Given the description of an element on the screen output the (x, y) to click on. 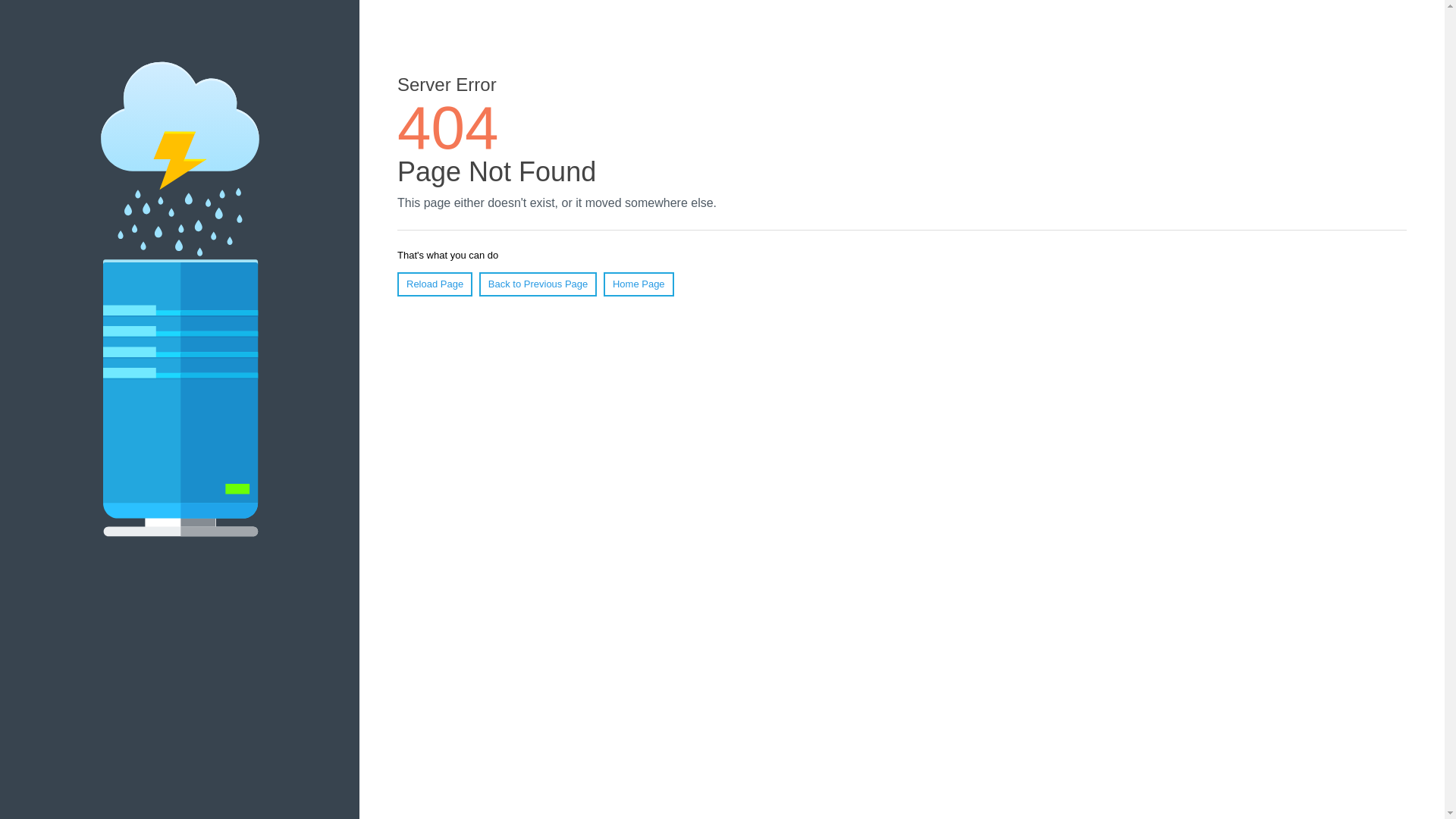
Home Page Element type: text (638, 284)
Reload Page Element type: text (434, 284)
Back to Previous Page Element type: text (538, 284)
